Given the description of an element on the screen output the (x, y) to click on. 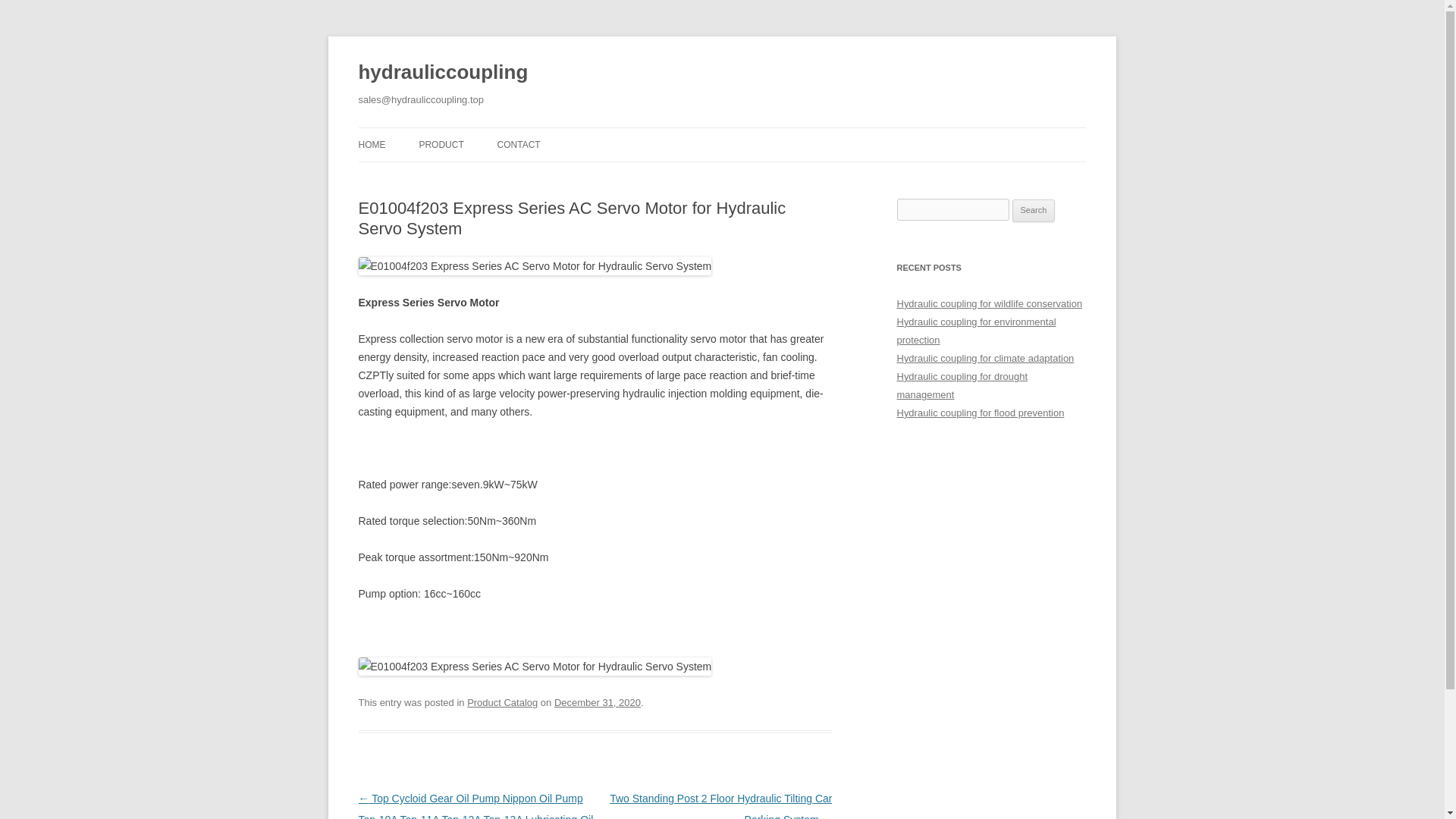
CONTACT (518, 144)
December 31, 2020 (597, 702)
PRODUCT (441, 144)
4:54 am (597, 702)
Hydraulic coupling for environmental protection (975, 330)
Hydraulic coupling for climate adaptation (985, 357)
Product Catalog (502, 702)
Search (1033, 210)
hydrauliccoupling (442, 72)
HOME (371, 144)
Hydraulic coupling for wildlife conservation (988, 303)
Search (1033, 210)
